Given the description of an element on the screen output the (x, y) to click on. 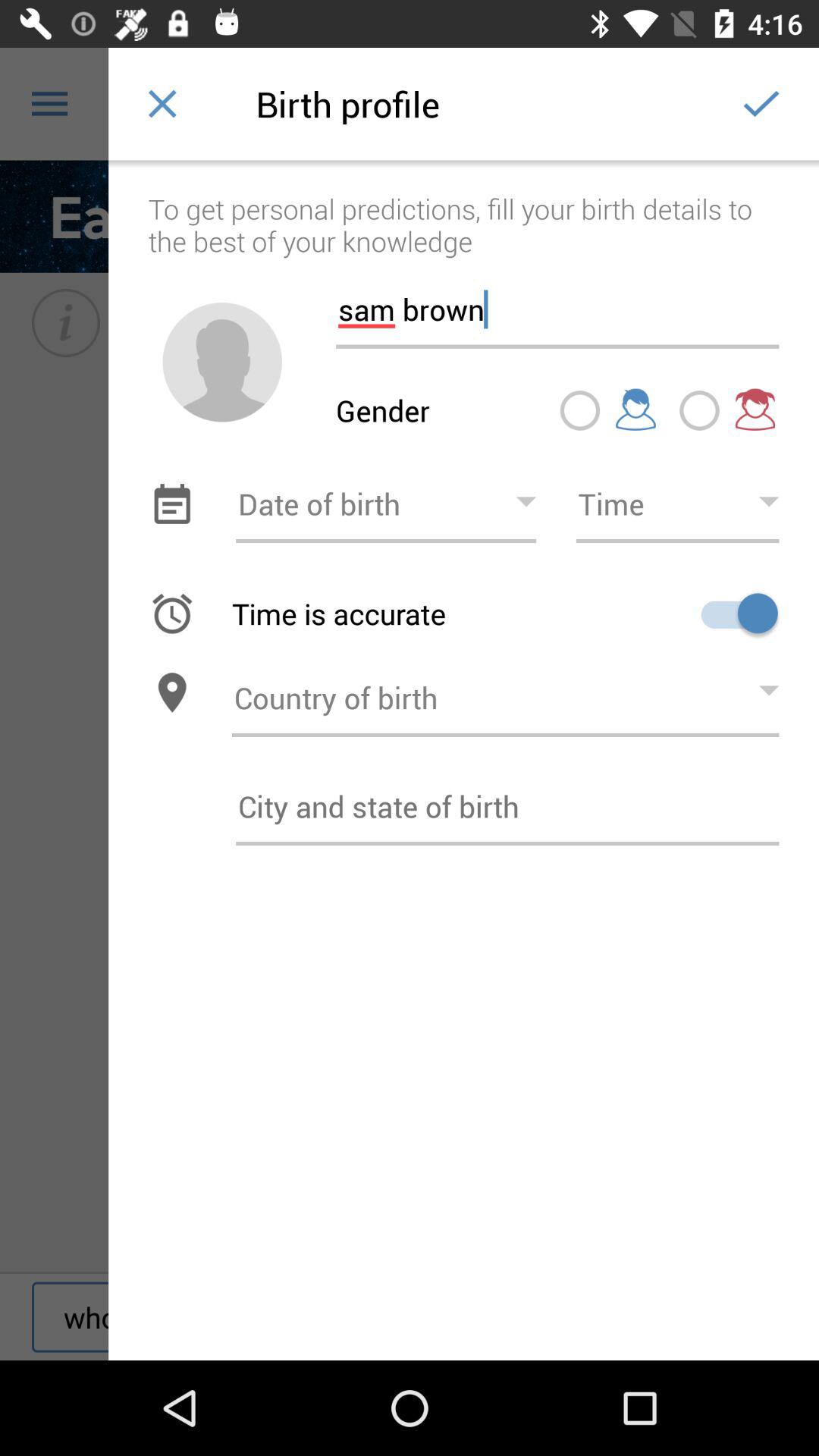
turn on the icon to the right of the time is accurate (734, 613)
